Given the description of an element on the screen output the (x, y) to click on. 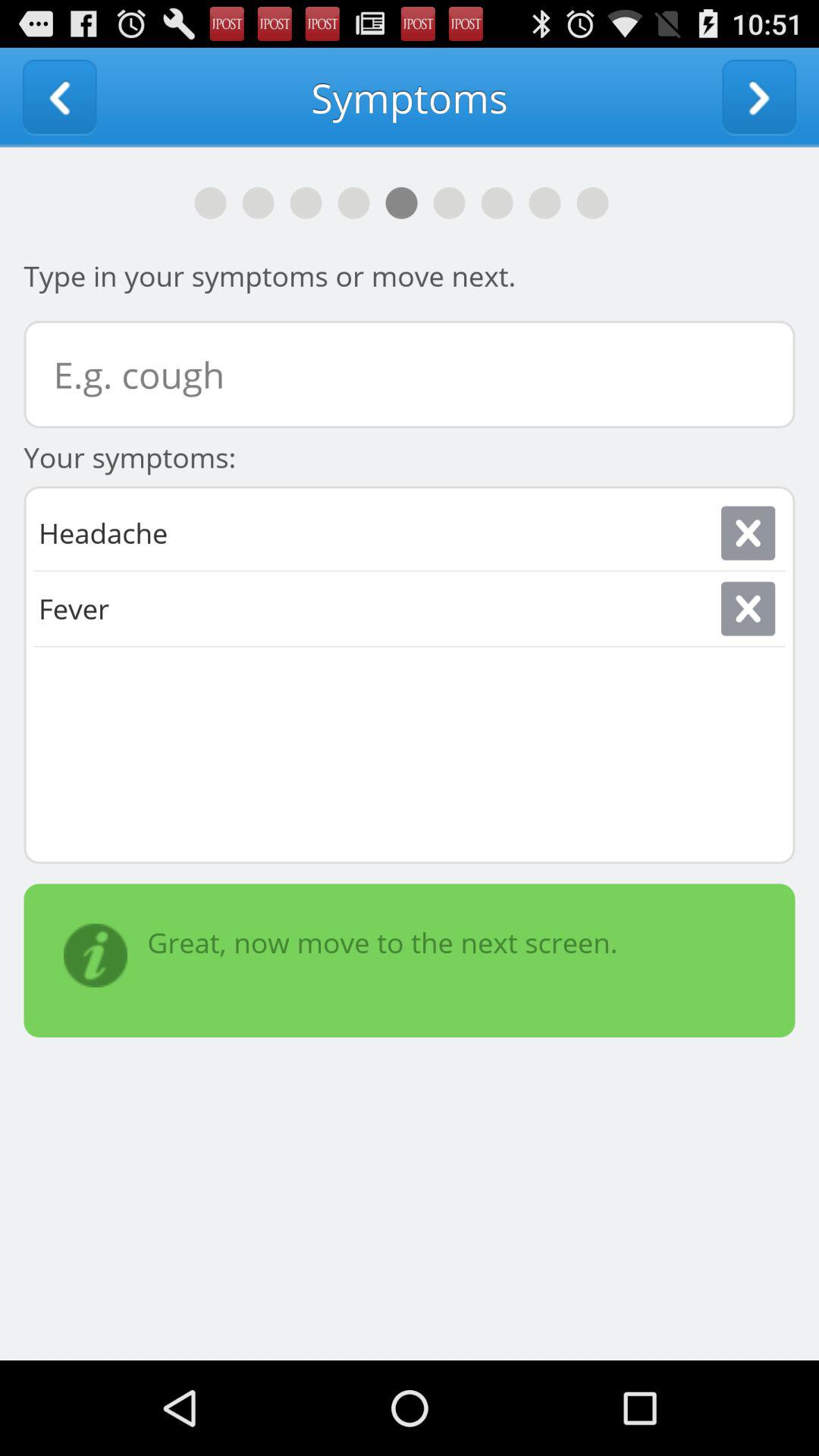
delete symptom (748, 533)
